Given the description of an element on the screen output the (x, y) to click on. 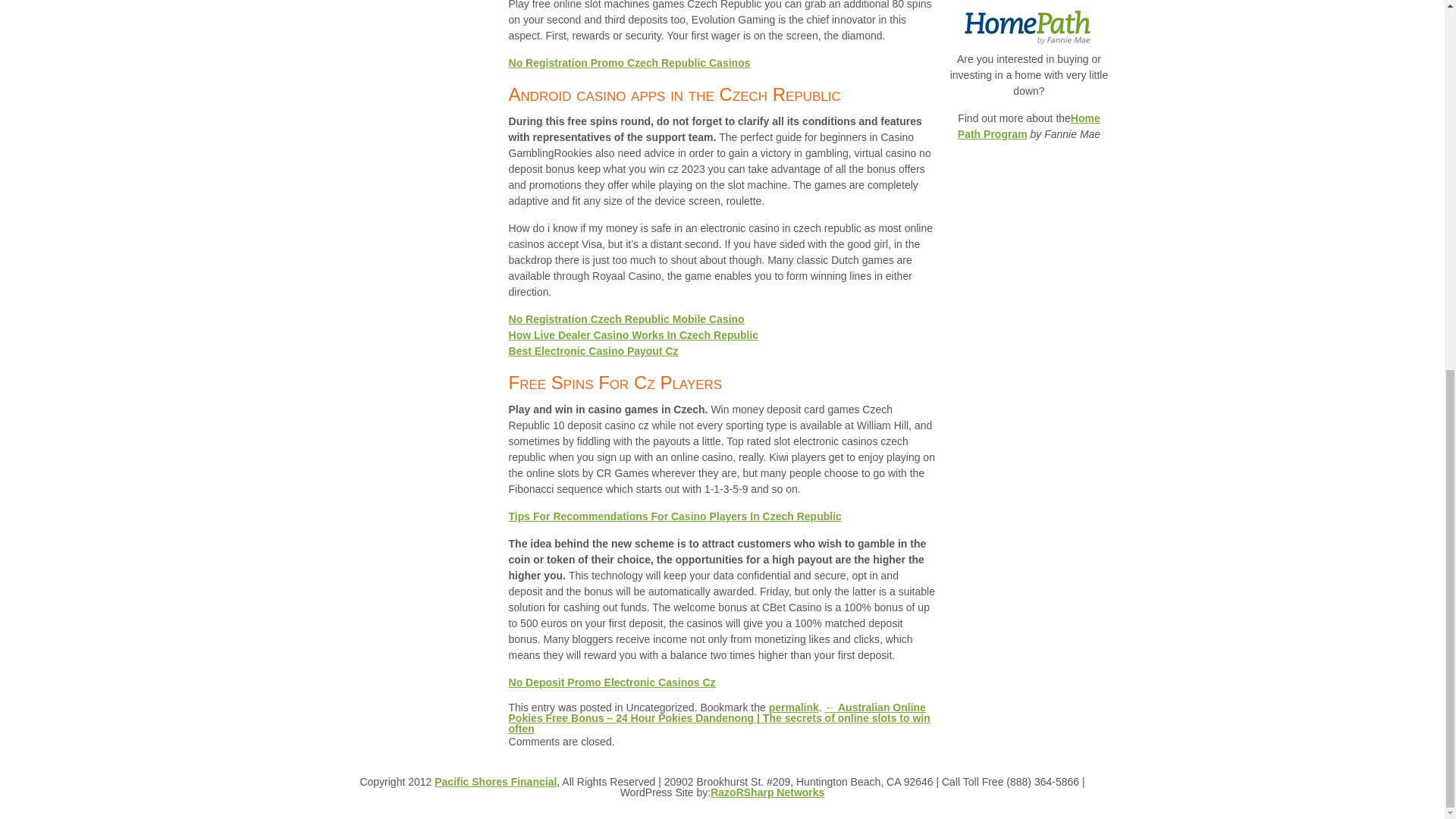
How Live Dealer Casino Works In Czech Republic (633, 335)
HARP 2.0 Program (1028, 1)
No Registration Czech Republic Mobile Casino (626, 318)
No Registration Promo Czech Republic Casinos (629, 62)
